Given the description of an element on the screen output the (x, y) to click on. 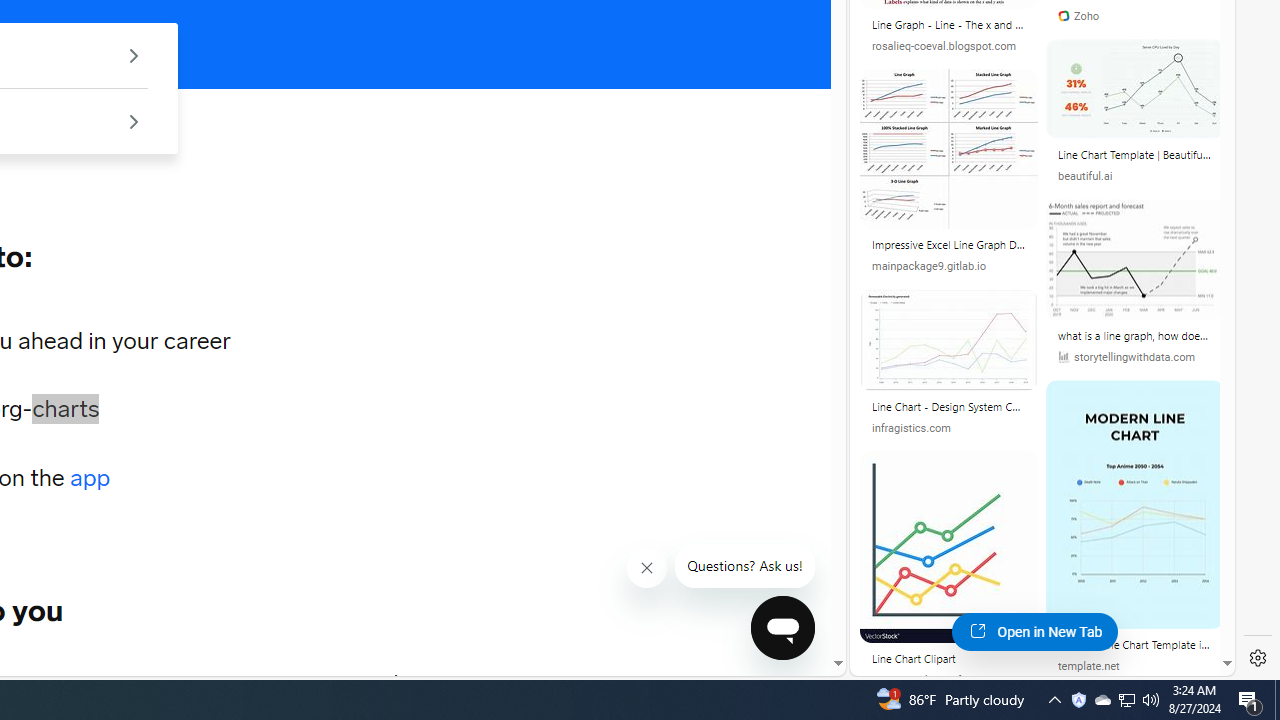
Line Chart - Design System Component (948, 406)
storytellingwithdata.com (1135, 357)
Class: sc-1k07fow-1 cbnSms (782, 627)
rosalieq-coeval.blogspot.com (944, 46)
